Given the description of an element on the screen output the (x, y) to click on. 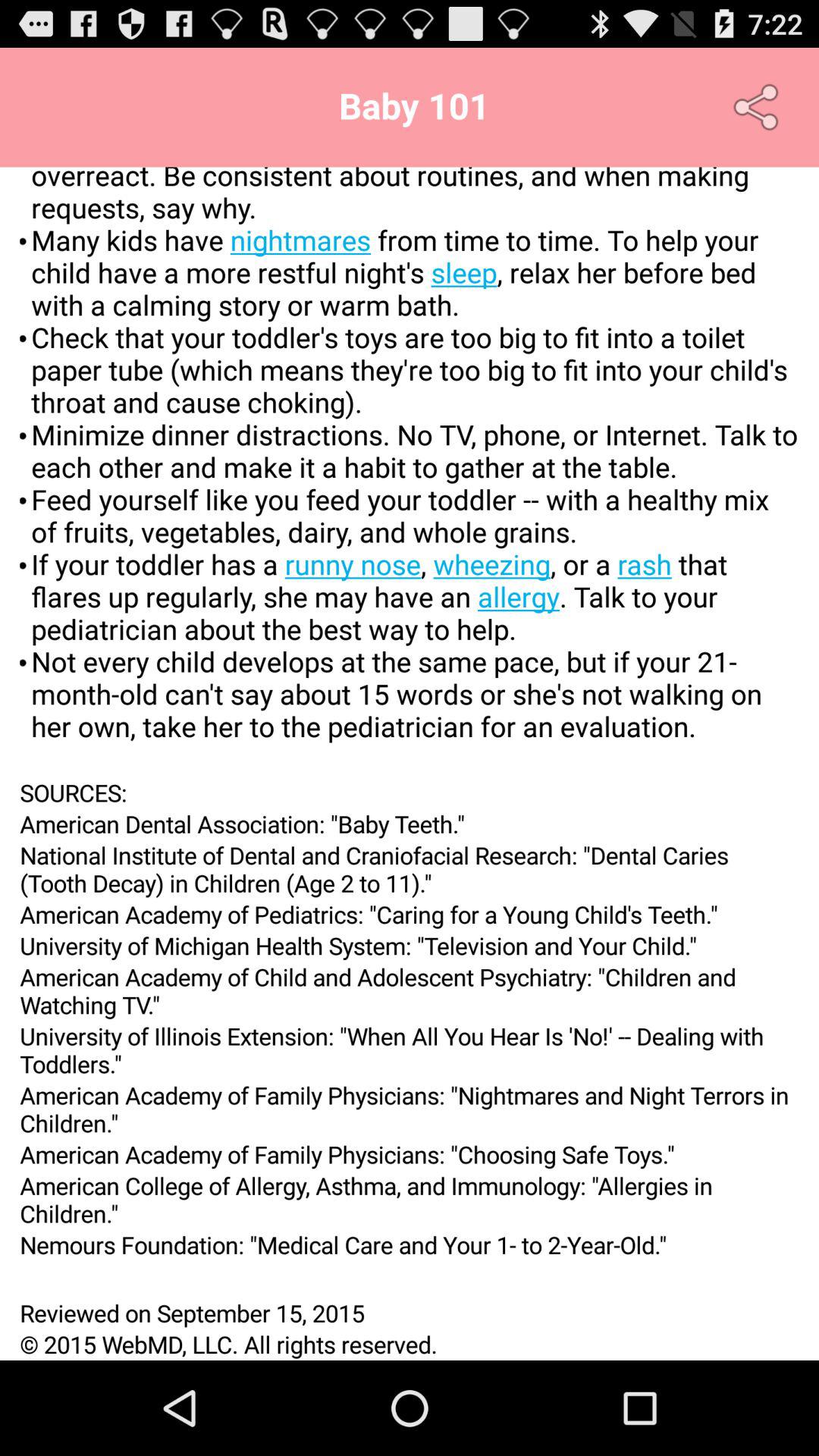
scroll to the month 21 tips item (409, 472)
